Given the description of an element on the screen output the (x, y) to click on. 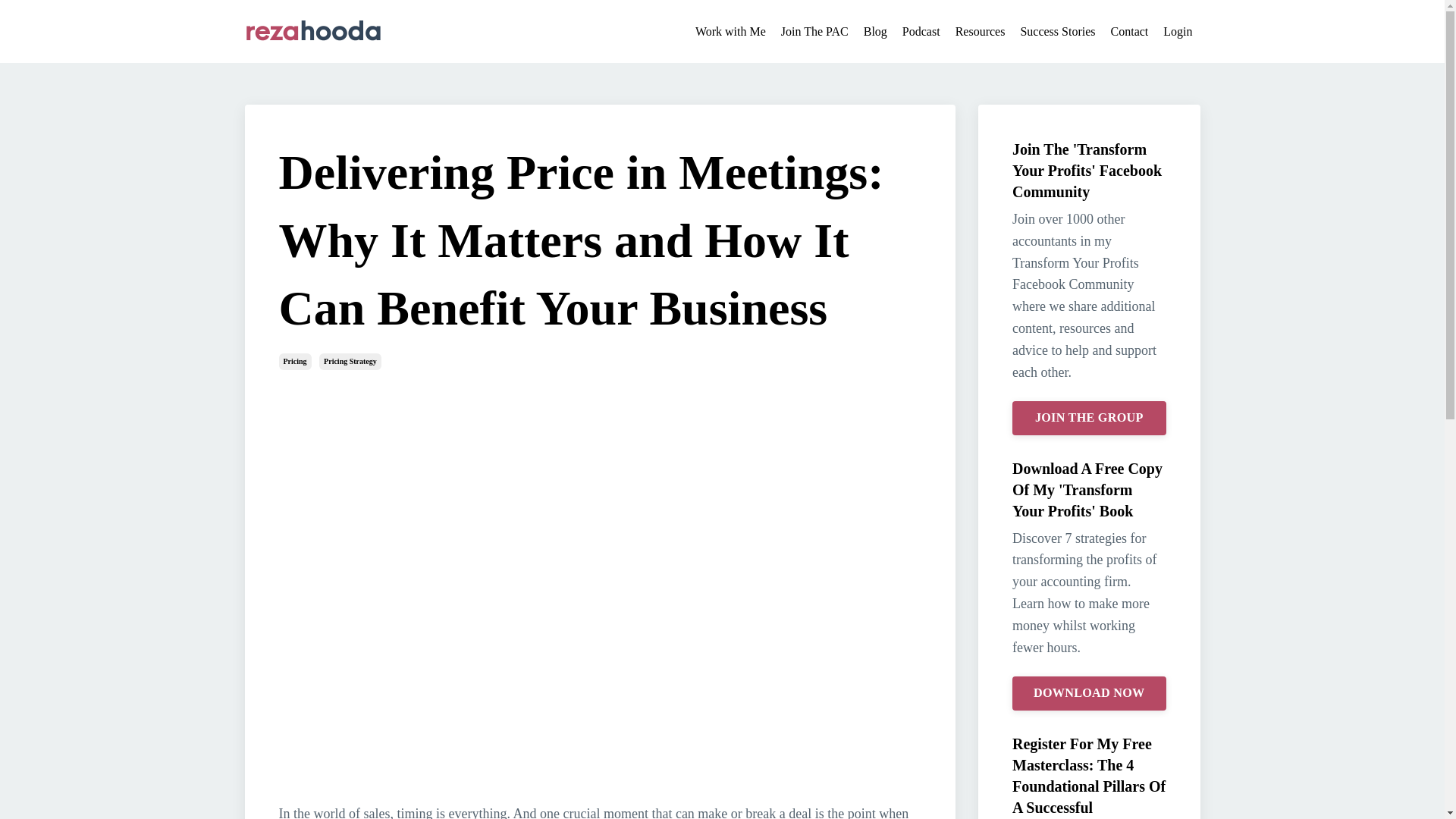
DOWNLOAD NOW (1088, 693)
Login (1177, 31)
Pricing (295, 361)
Contact (1129, 31)
Work with Me (730, 31)
Resources (980, 31)
Podcast (921, 31)
JOIN THE GROUP (1088, 417)
Join The PAC (814, 31)
Blog (874, 31)
